Given the description of an element on the screen output the (x, y) to click on. 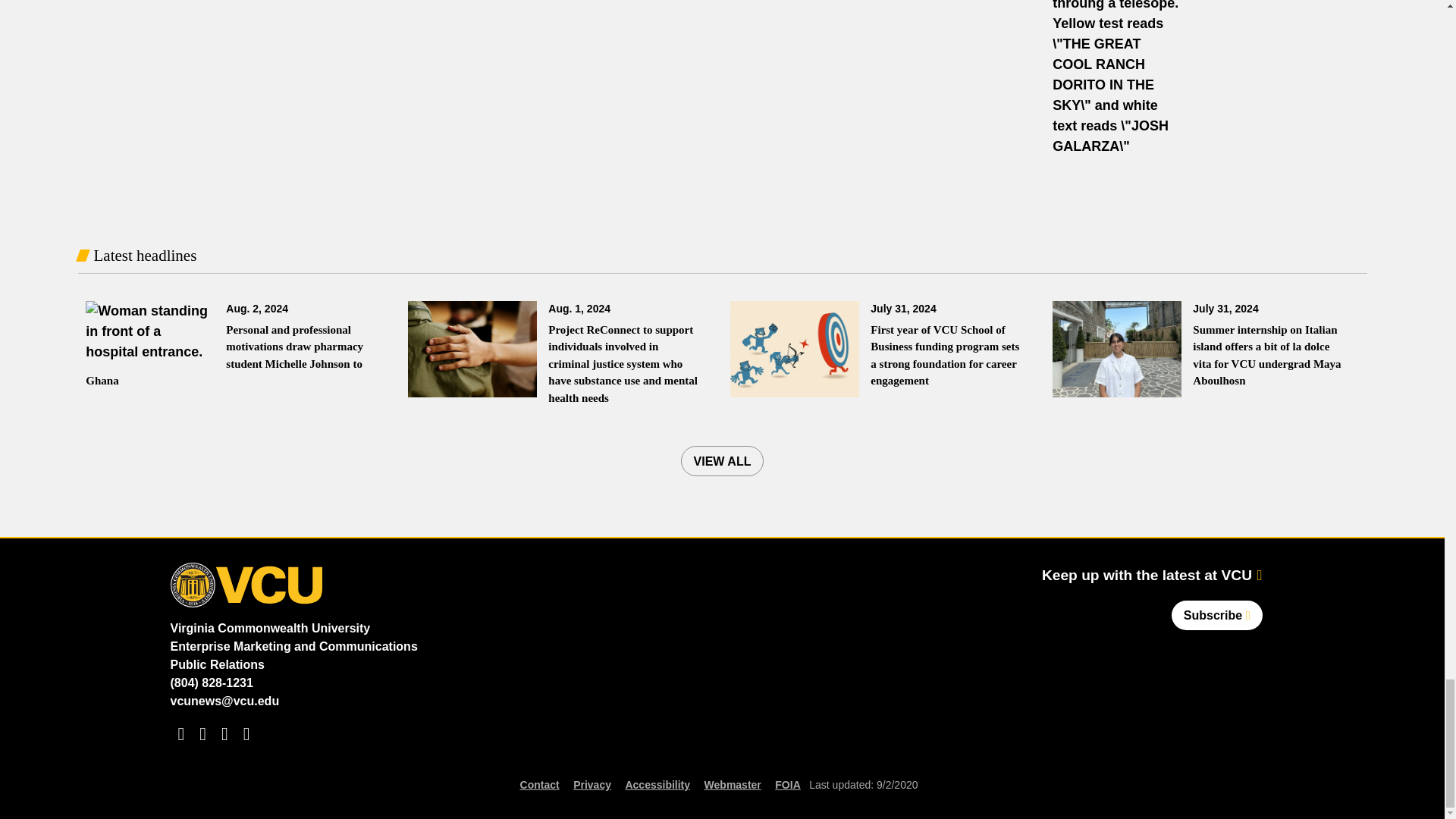
VCU privacy statement (591, 784)
Freedom of Information Act request (787, 784)
Accessibility at VCU (657, 784)
Contact the VCU webmaster (732, 784)
